Given the description of an element on the screen output the (x, y) to click on. 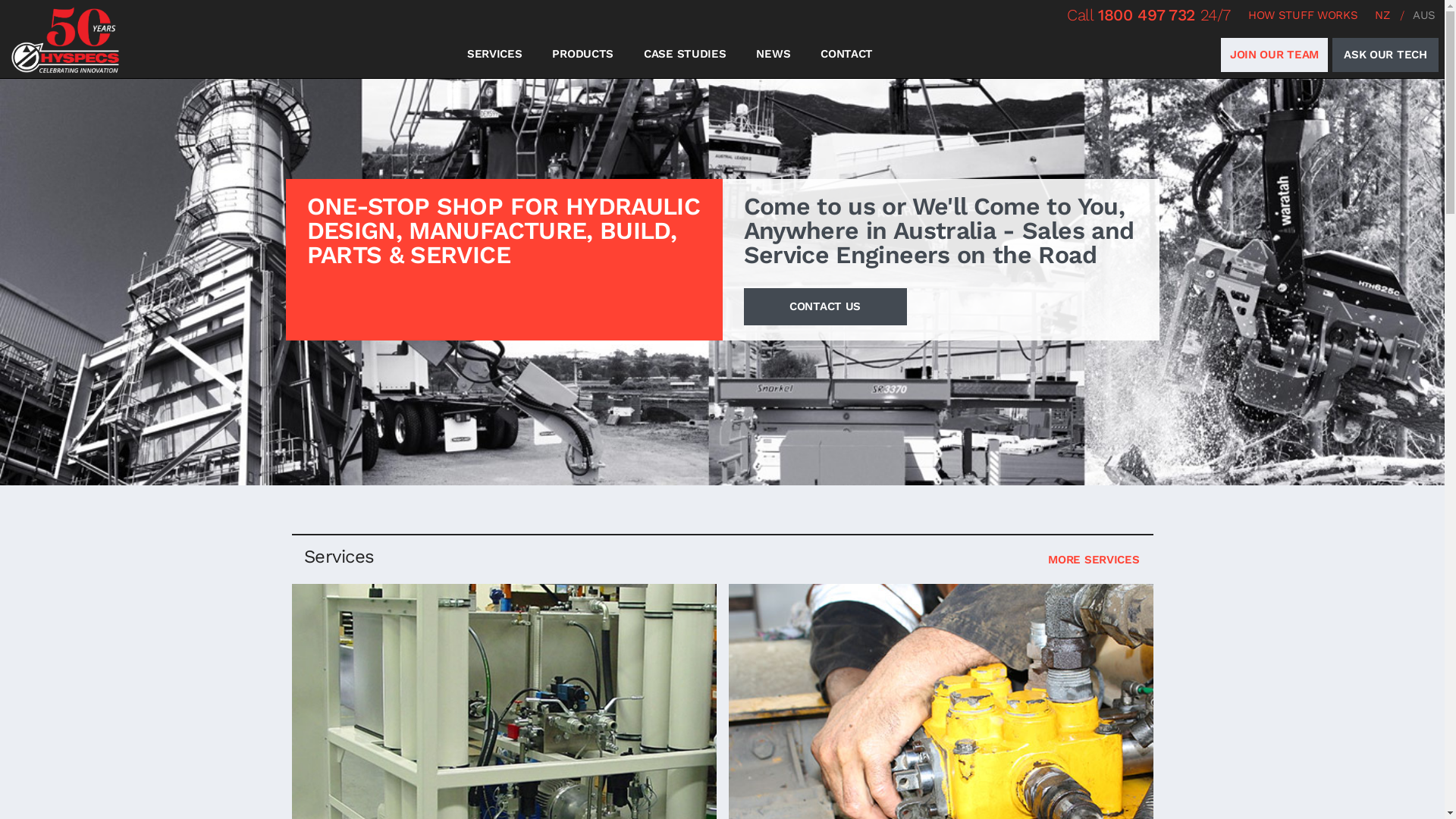
Call 1800 497 732 24/7 Element type: text (1148, 15)
CONTACT US Element type: text (824, 306)
ASK OUR TECH Element type: text (1385, 54)
PRODUCTS Element type: text (582, 54)
CONTACT Element type: text (846, 54)
Contact Us Element type: hover (721, 259)
JOIN OUR TEAM Element type: text (1273, 54)
SERVICES Element type: text (494, 54)
CASE STUDIES Element type: text (684, 54)
NZ Element type: text (1381, 15)
HOW STUFF WORKS Element type: text (1303, 15)
MORE SERVICES Element type: text (1093, 559)
AUS Element type: text (1423, 15)
NEWS Element type: text (772, 54)
